Given the description of an element on the screen output the (x, y) to click on. 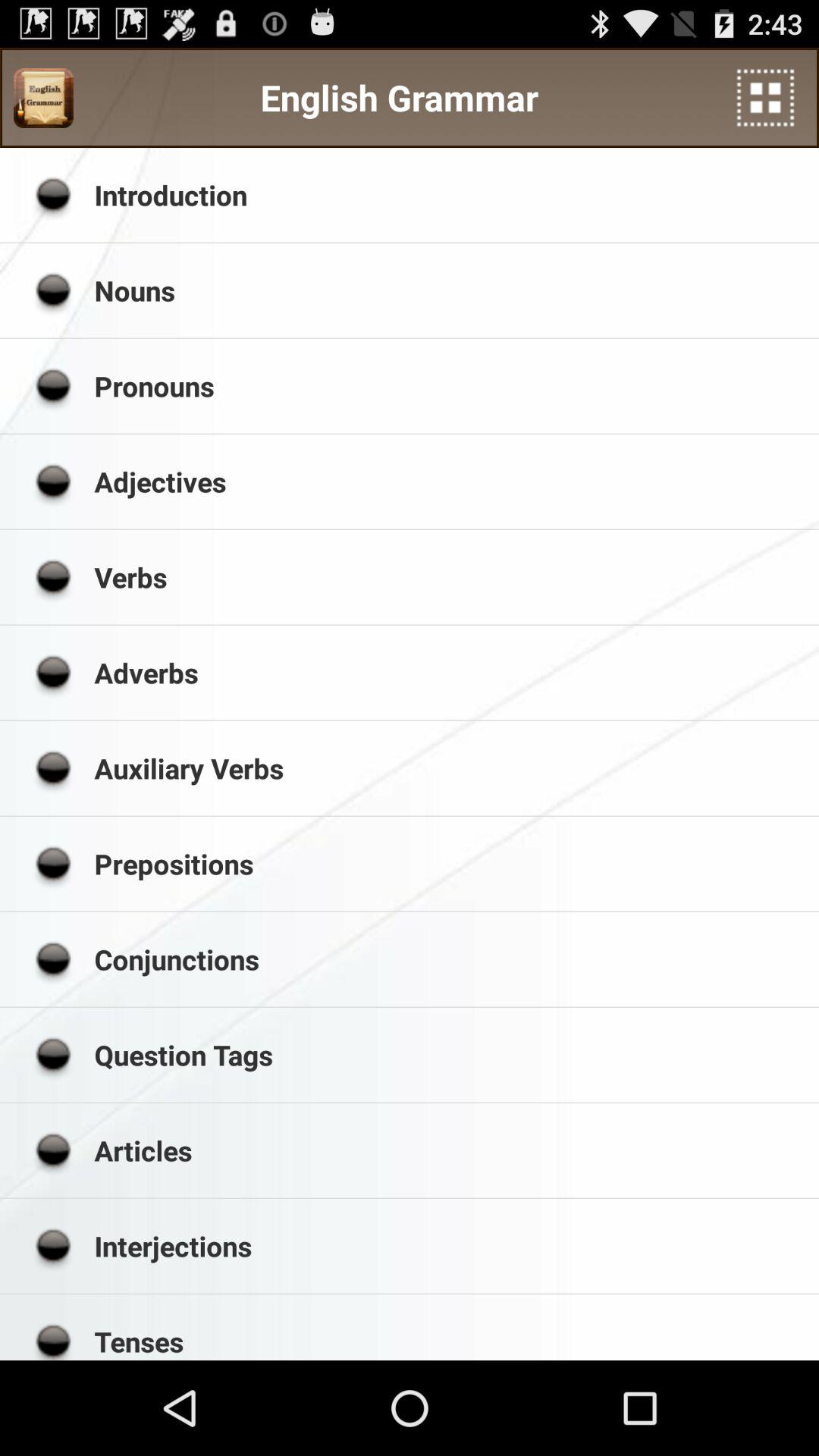
jump until the adjectives icon (451, 481)
